Given the description of an element on the screen output the (x, y) to click on. 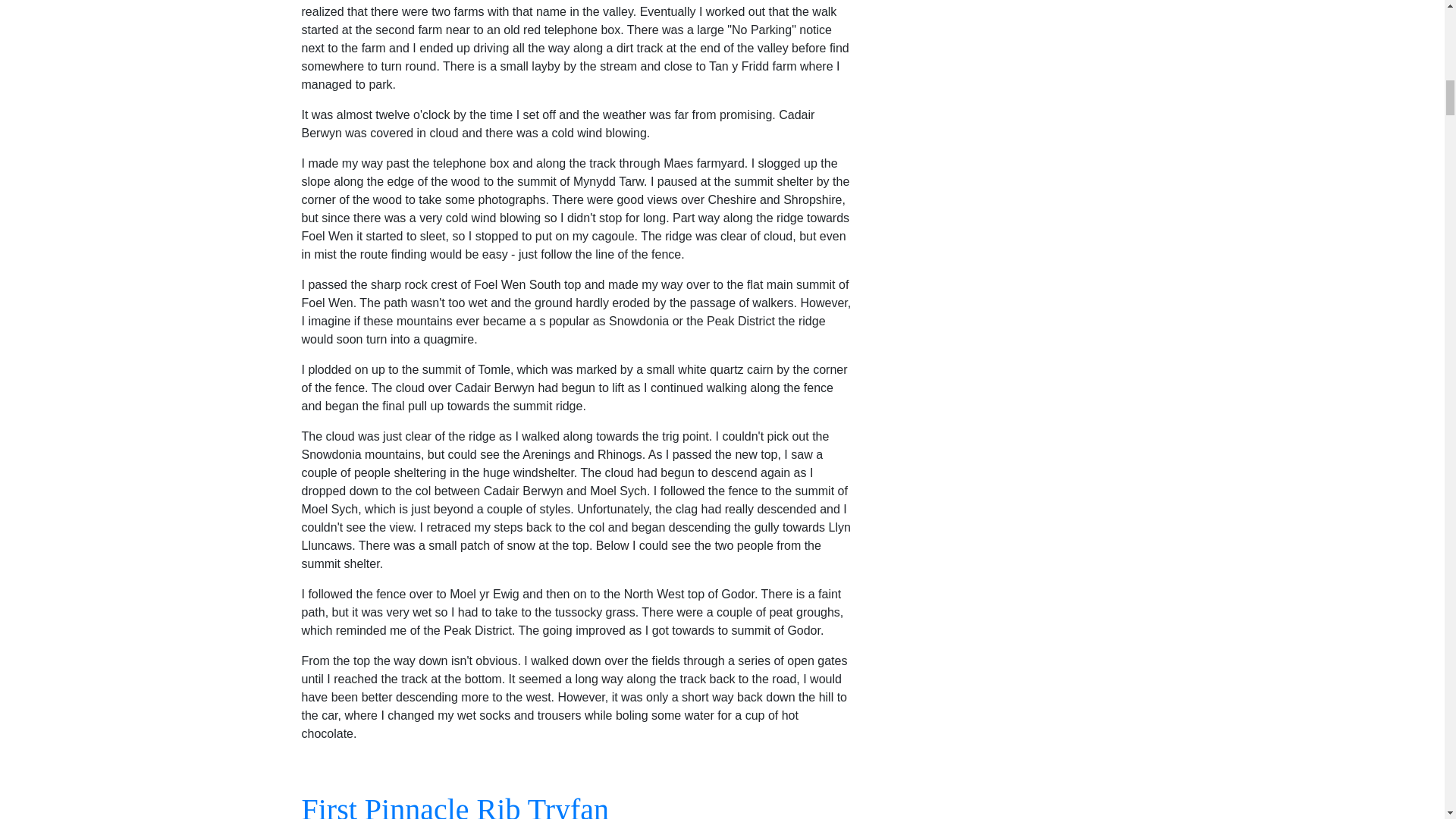
First Pinnacle Rib Tryfan (455, 805)
